Given the description of an element on the screen output the (x, y) to click on. 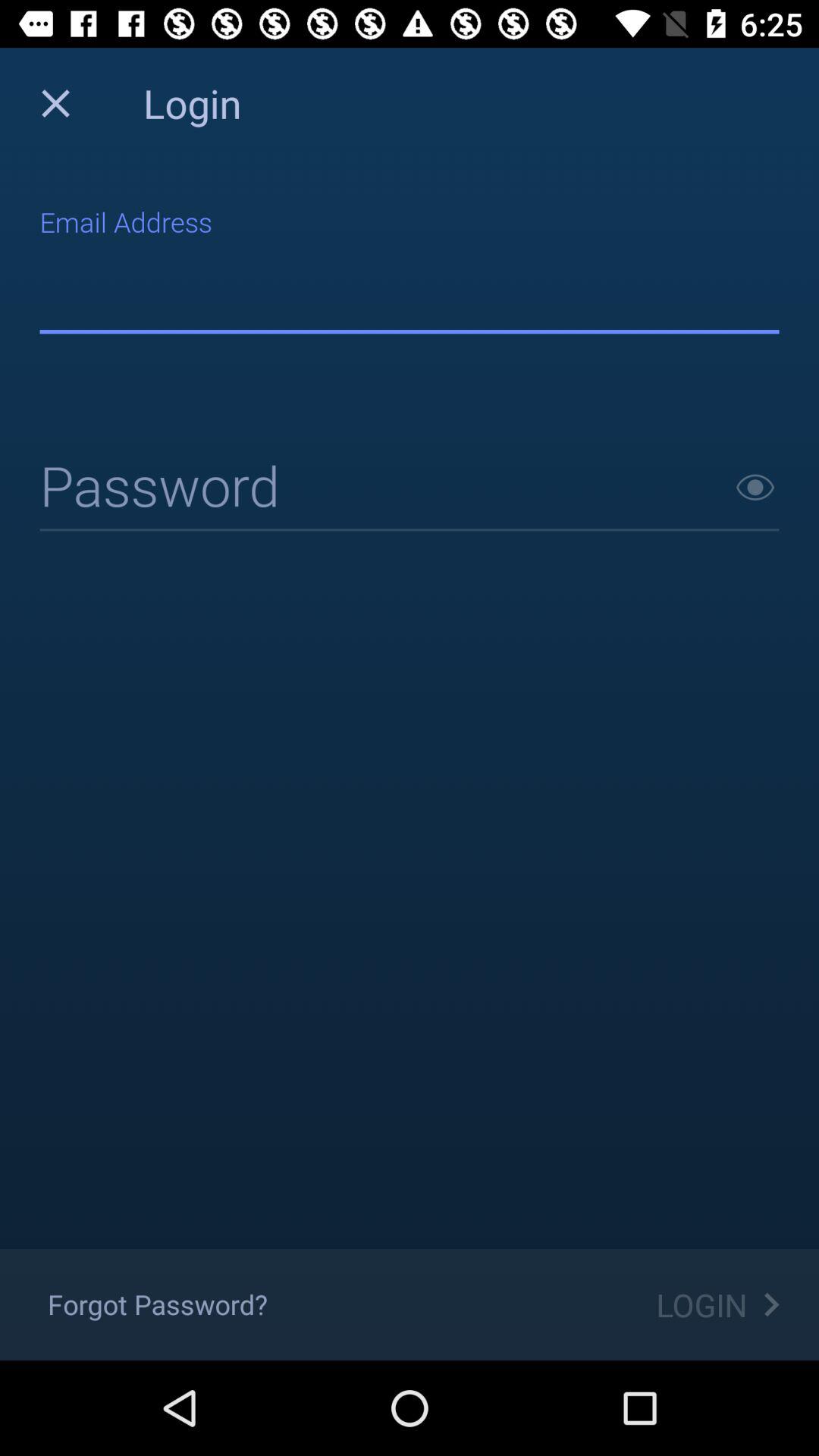
show password button (755, 487)
